Given the description of an element on the screen output the (x, y) to click on. 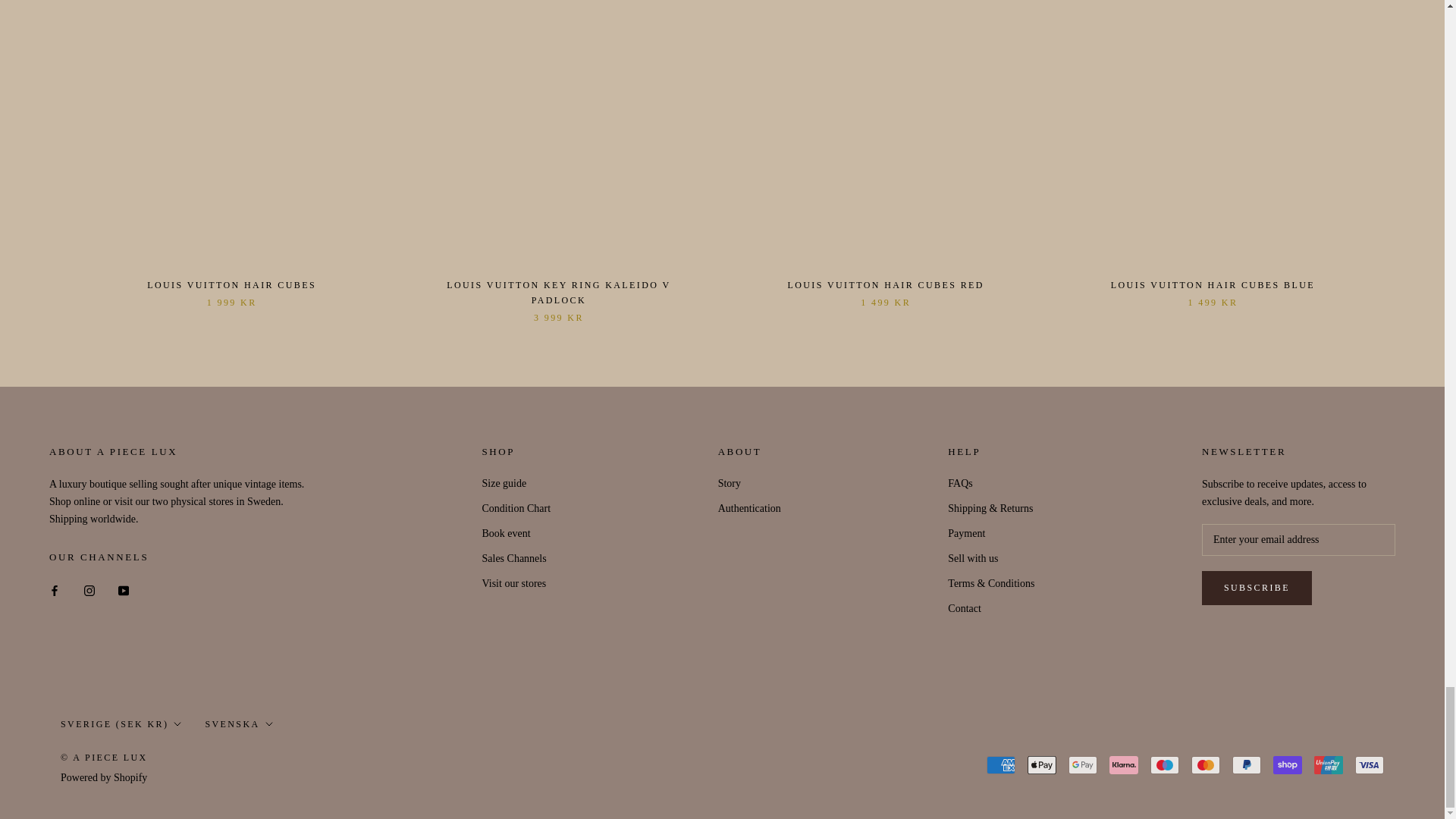
Klarna (1123, 764)
Apple Pay (1042, 764)
Google Pay (1082, 764)
American Express (1000, 764)
